Given the description of an element on the screen output the (x, y) to click on. 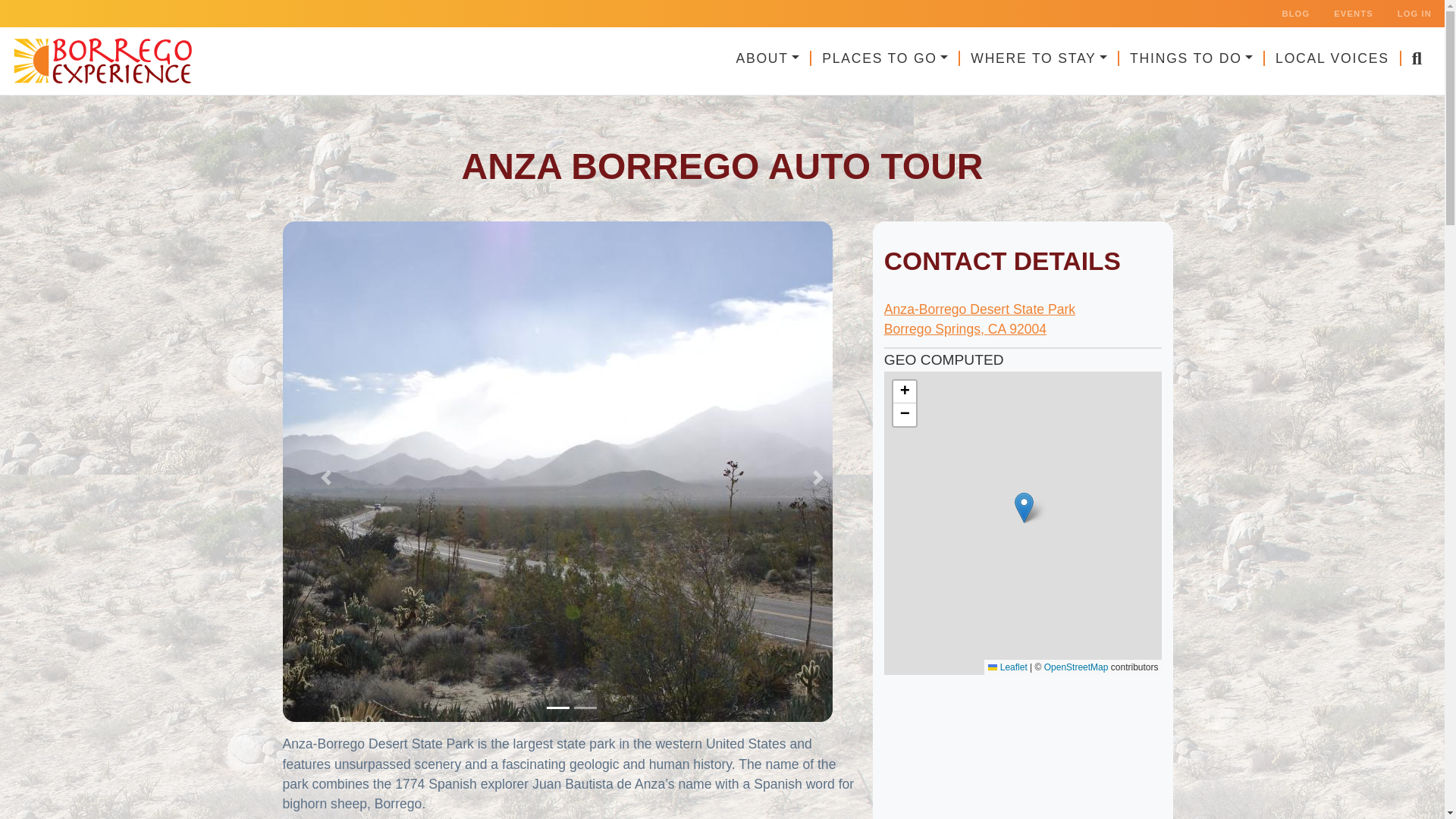
WHERE TO STAY (1039, 58)
Zoom out (904, 414)
ABOUT (767, 58)
LOCAL VOICES (1332, 58)
EVENTS (1353, 13)
SEARCH (1416, 61)
THINGS TO DO (1192, 58)
PREVIOUS (325, 477)
SKIP TO MAIN CONTENT (721, 1)
Home (105, 60)
LOG IN (1415, 13)
BLOG (1295, 13)
Zoom in (904, 391)
A JavaScript library for interactive maps (1007, 666)
PLACES TO GO (884, 58)
